Given the description of an element on the screen output the (x, y) to click on. 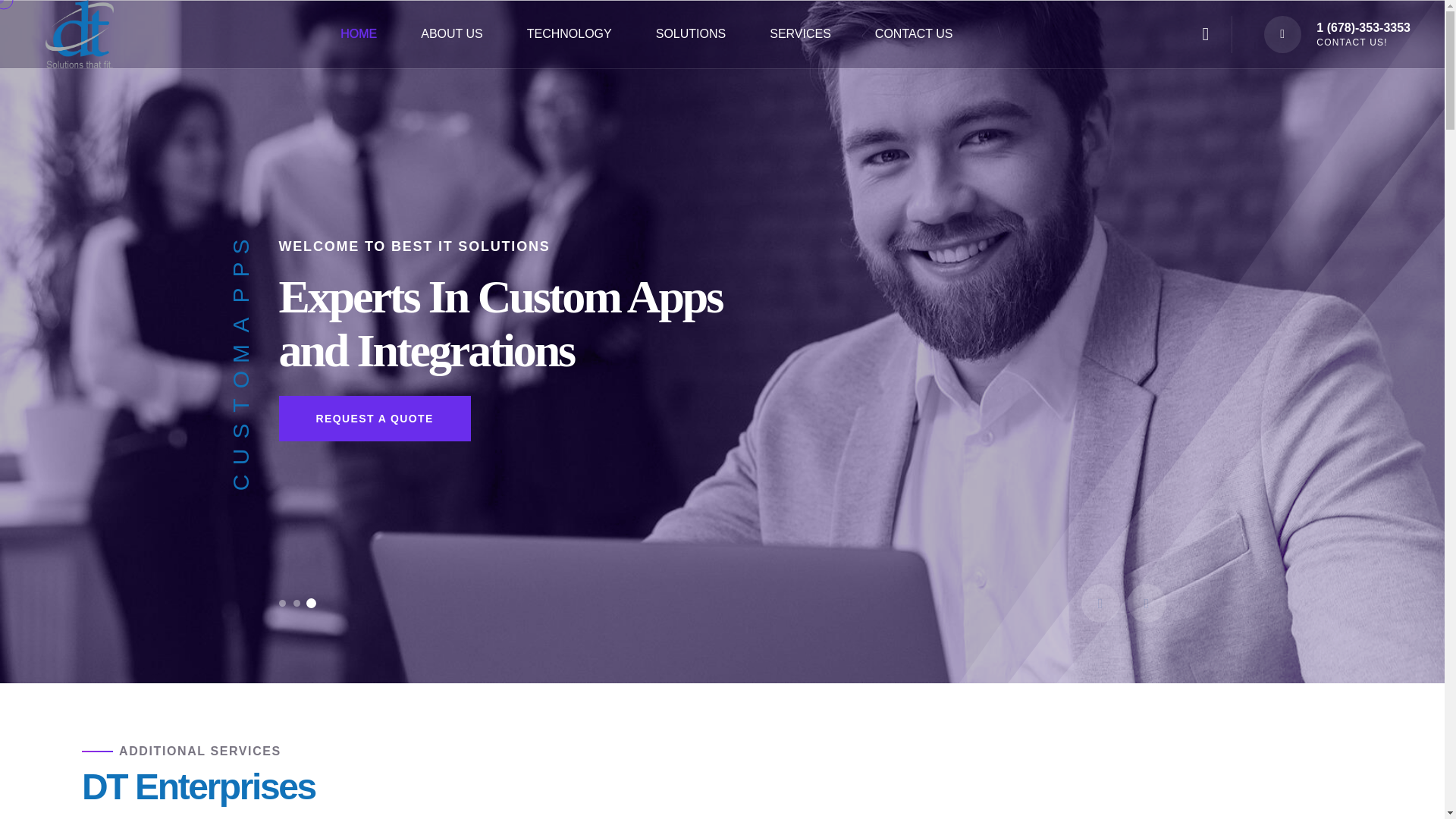
TECHNOLOGY (569, 33)
SOLUTIONS (690, 33)
SERVICES (800, 33)
ABOUT US (451, 33)
CONTACT US (914, 33)
